Given the description of an element on the screen output the (x, y) to click on. 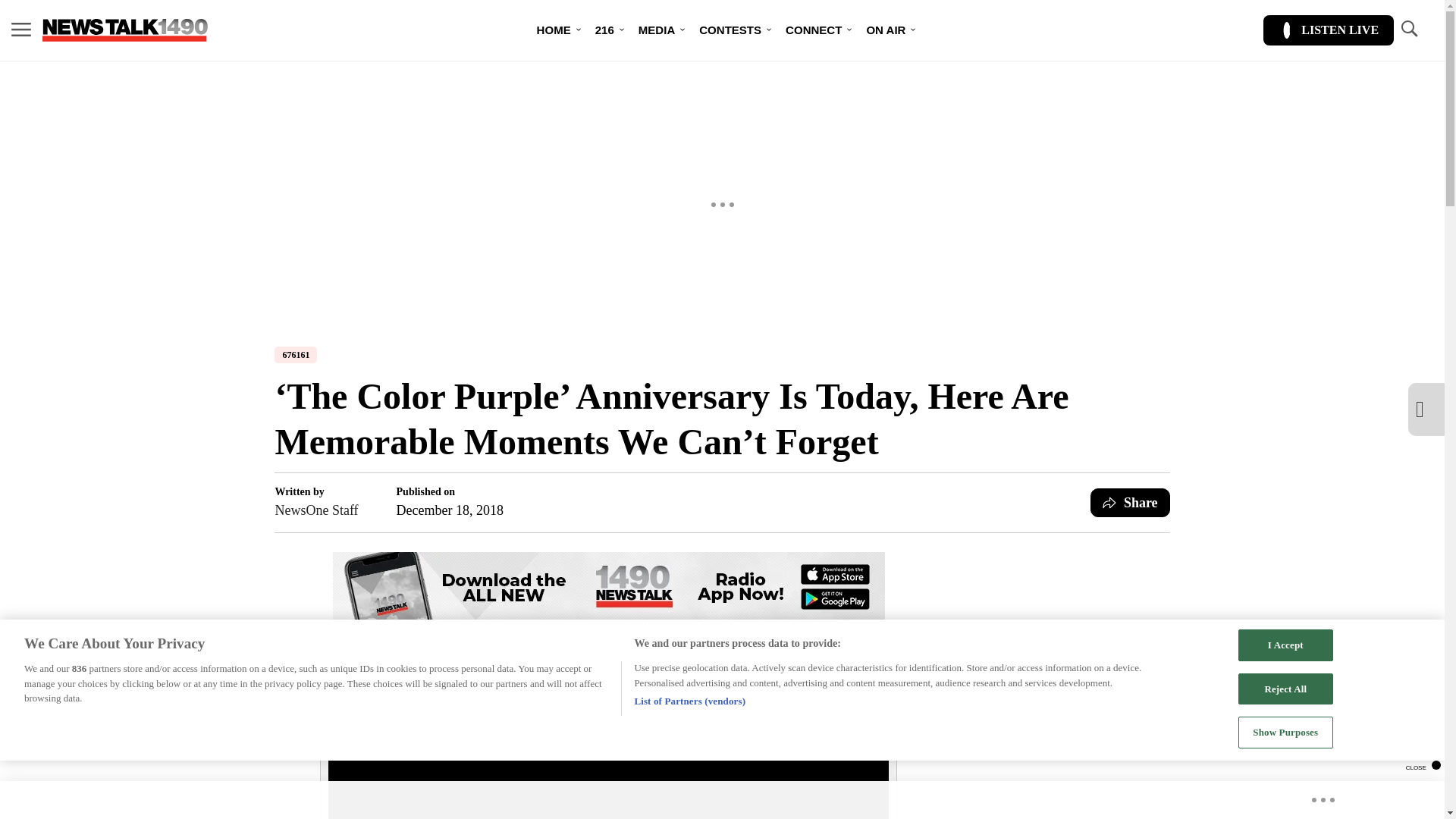
CONNECT (813, 30)
TOGGLE SEARCH (1408, 30)
TWITTER (785, 630)
Share (1130, 502)
MENU (20, 30)
FACEBOOK (602, 630)
LIVE (461, 630)
MEDIA (656, 30)
LISTEN LIVE (1328, 30)
HOME (553, 30)
ON AIR (885, 30)
CONTESTS (730, 30)
676161 (296, 354)
MENU (20, 29)
NewsOne Staff (316, 509)
